Given the description of an element on the screen output the (x, y) to click on. 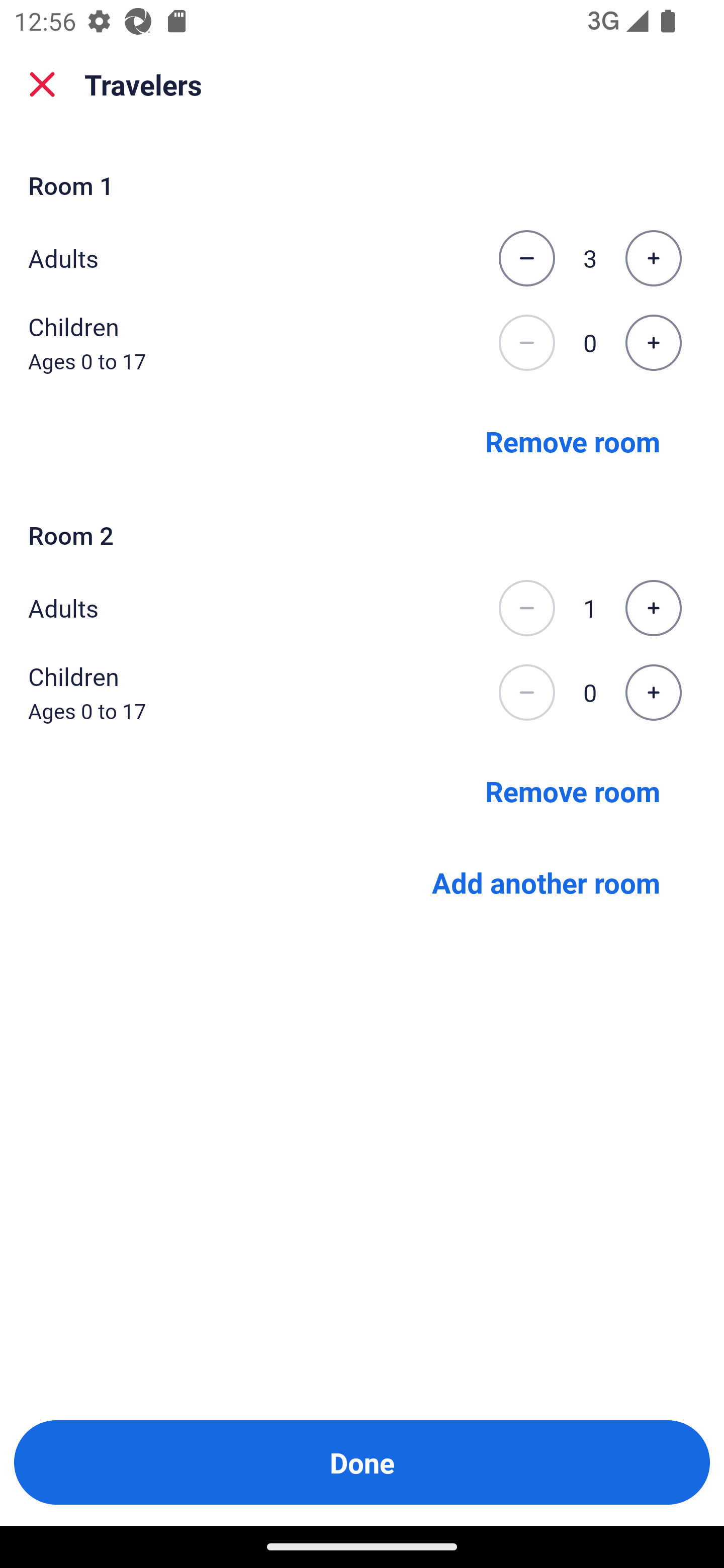
close (42, 84)
Decrease the number of adults (526, 258)
Increase the number of adults (653, 258)
Decrease the number of children (526, 343)
Increase the number of children (653, 343)
Remove room (572, 440)
Decrease the number of adults (526, 608)
Increase the number of adults (653, 608)
Decrease the number of children (526, 692)
Increase the number of children (653, 692)
Remove room (572, 790)
Add another room (545, 882)
Done (361, 1462)
